Given the description of an element on the screen output the (x, y) to click on. 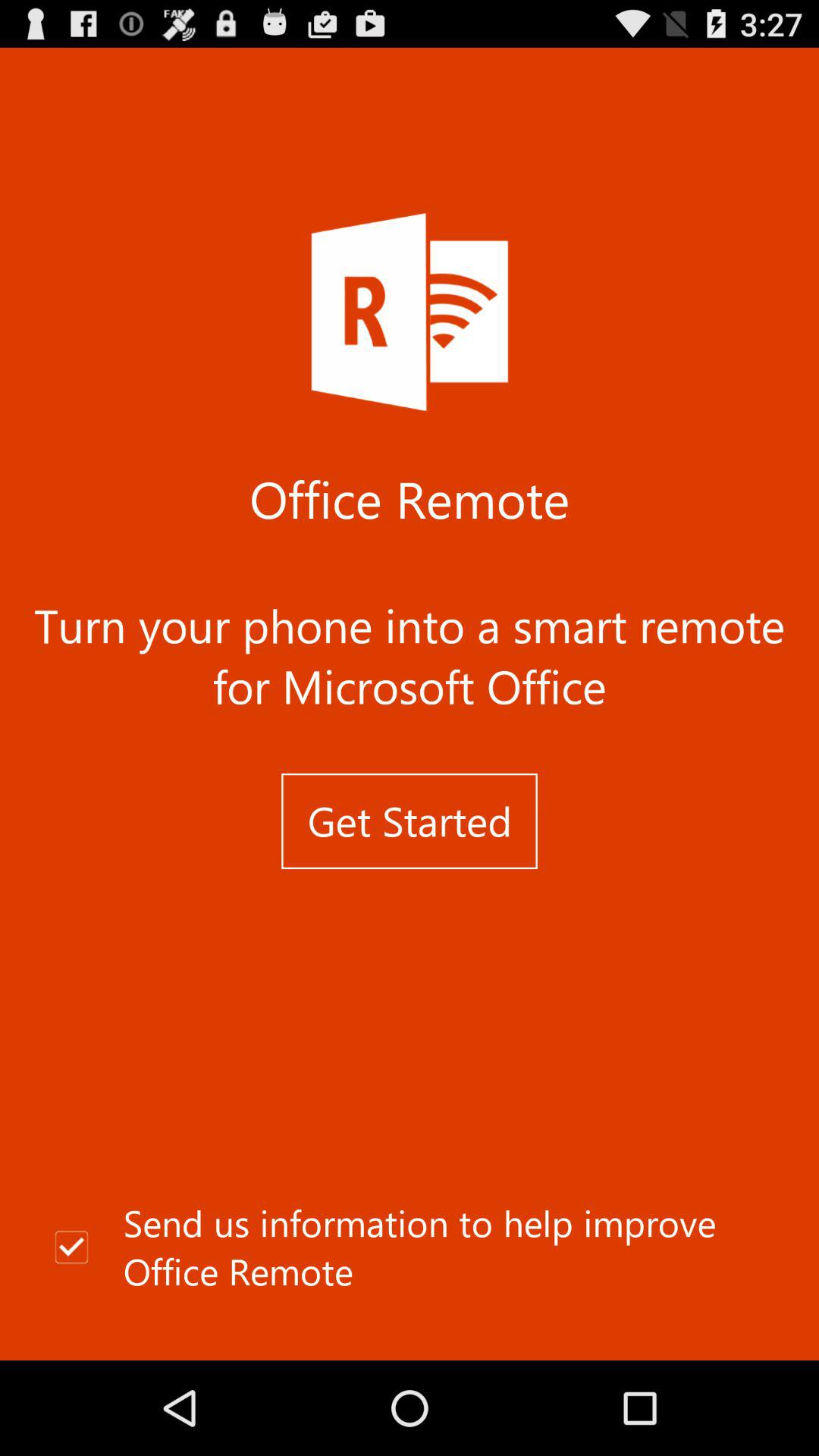
click send us information item (409, 1247)
